Given the description of an element on the screen output the (x, y) to click on. 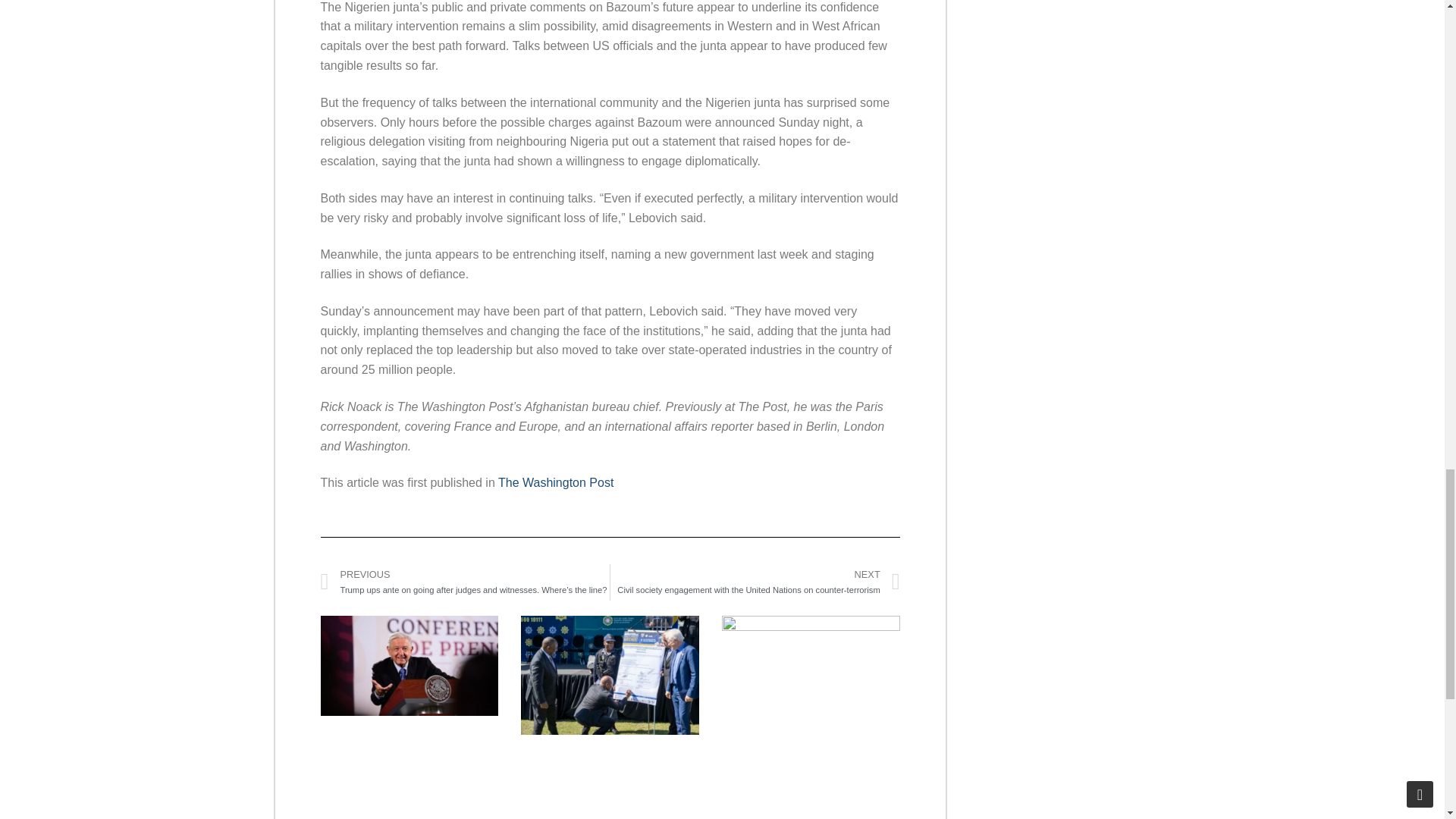
The Washington Post (554, 481)
The Washington Post (554, 481)
